Given the description of an element on the screen output the (x, y) to click on. 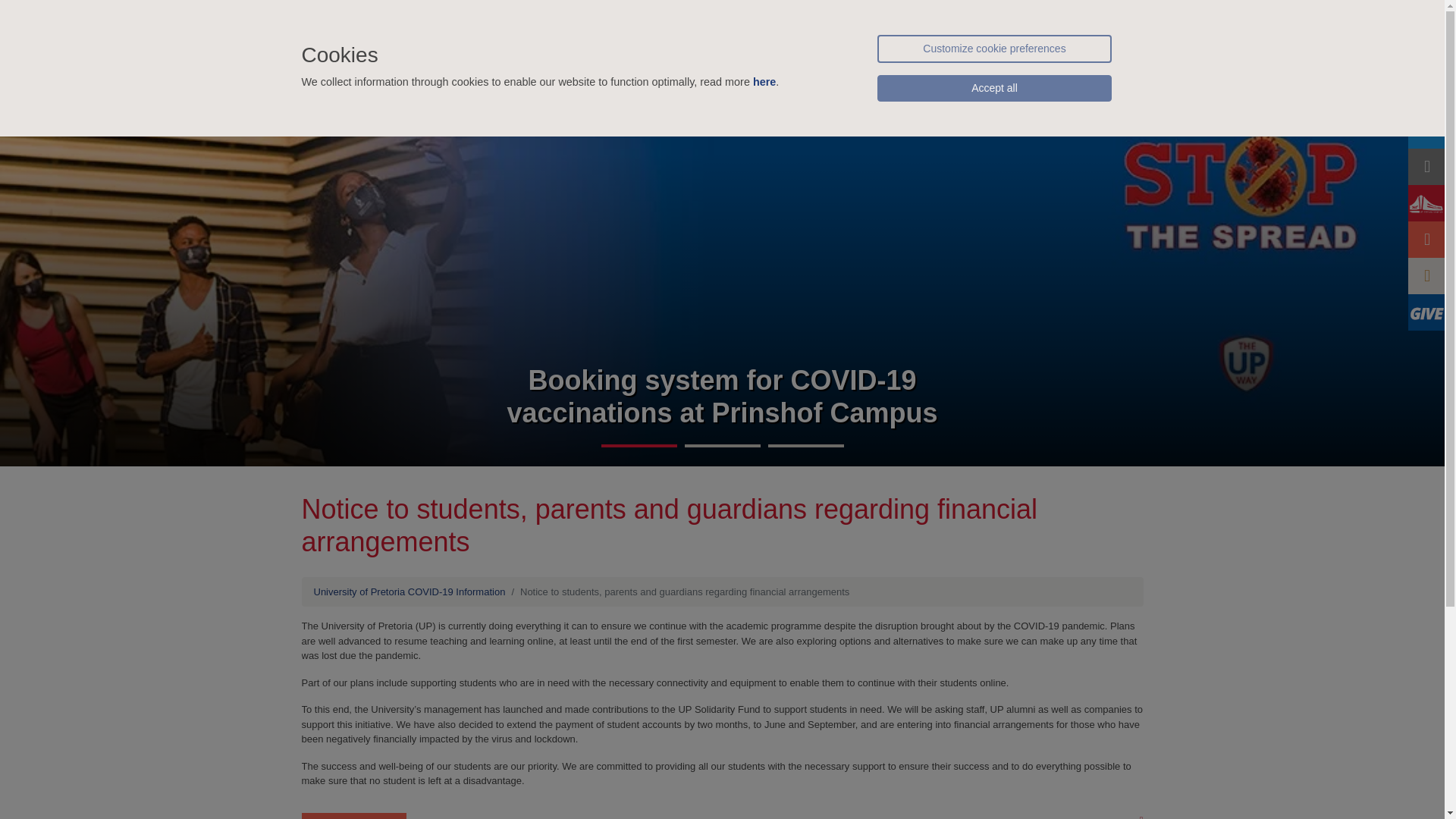
Student support (615, 55)
Home (485, 55)
University of Pretoria COVID-19 Information (559, 18)
A-Z Index (1114, 18)
Customize cookie preferences (994, 49)
Staff support (764, 55)
Accept all (994, 88)
My UP Login (848, 18)
2 (722, 445)
here (764, 81)
